Given the description of an element on the screen output the (x, y) to click on. 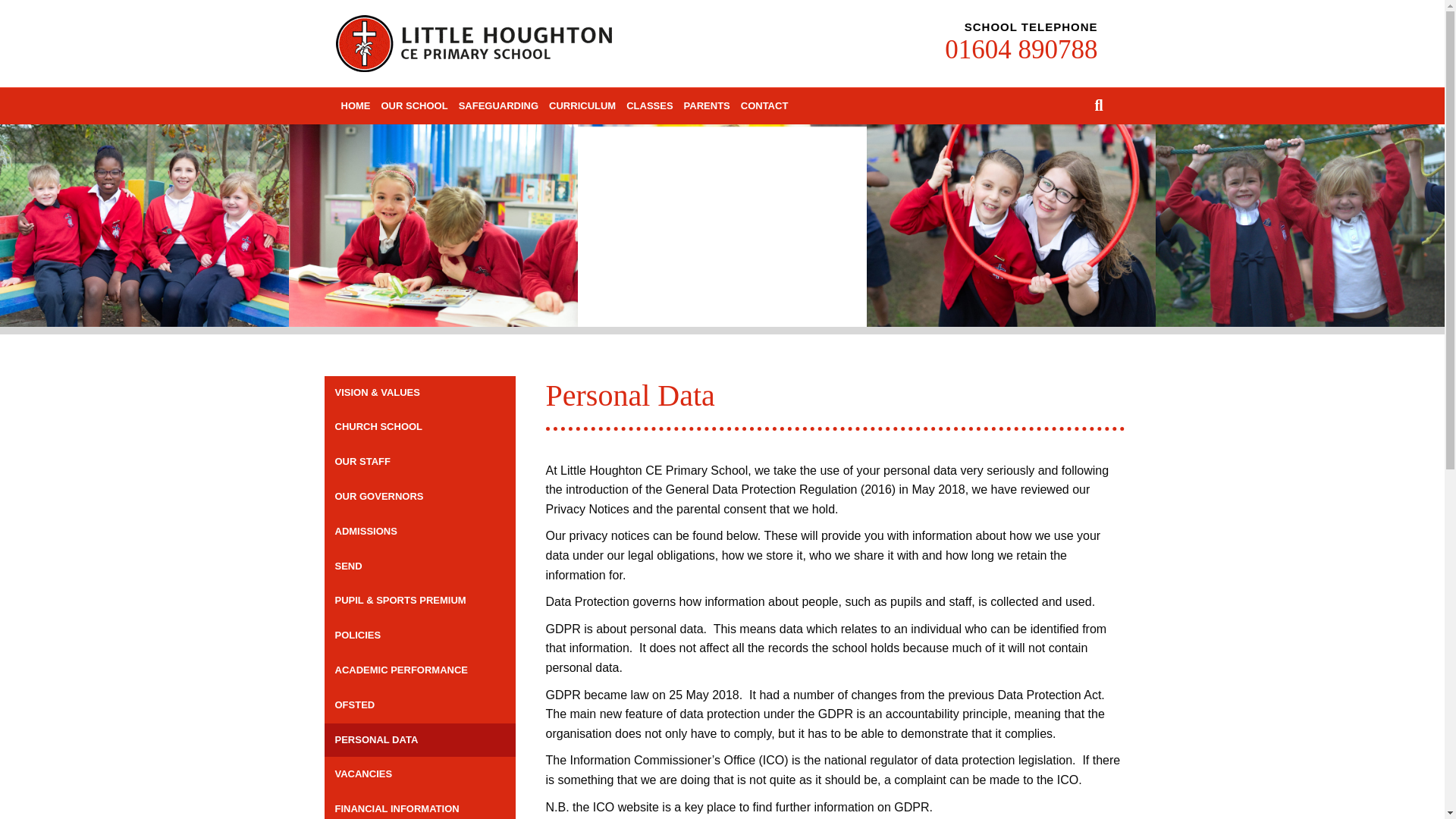
OUR SCHOOL (413, 105)
HOME (354, 105)
SAFEGUARDING (497, 105)
CURRICULUM (582, 105)
